Given the description of an element on the screen output the (x, y) to click on. 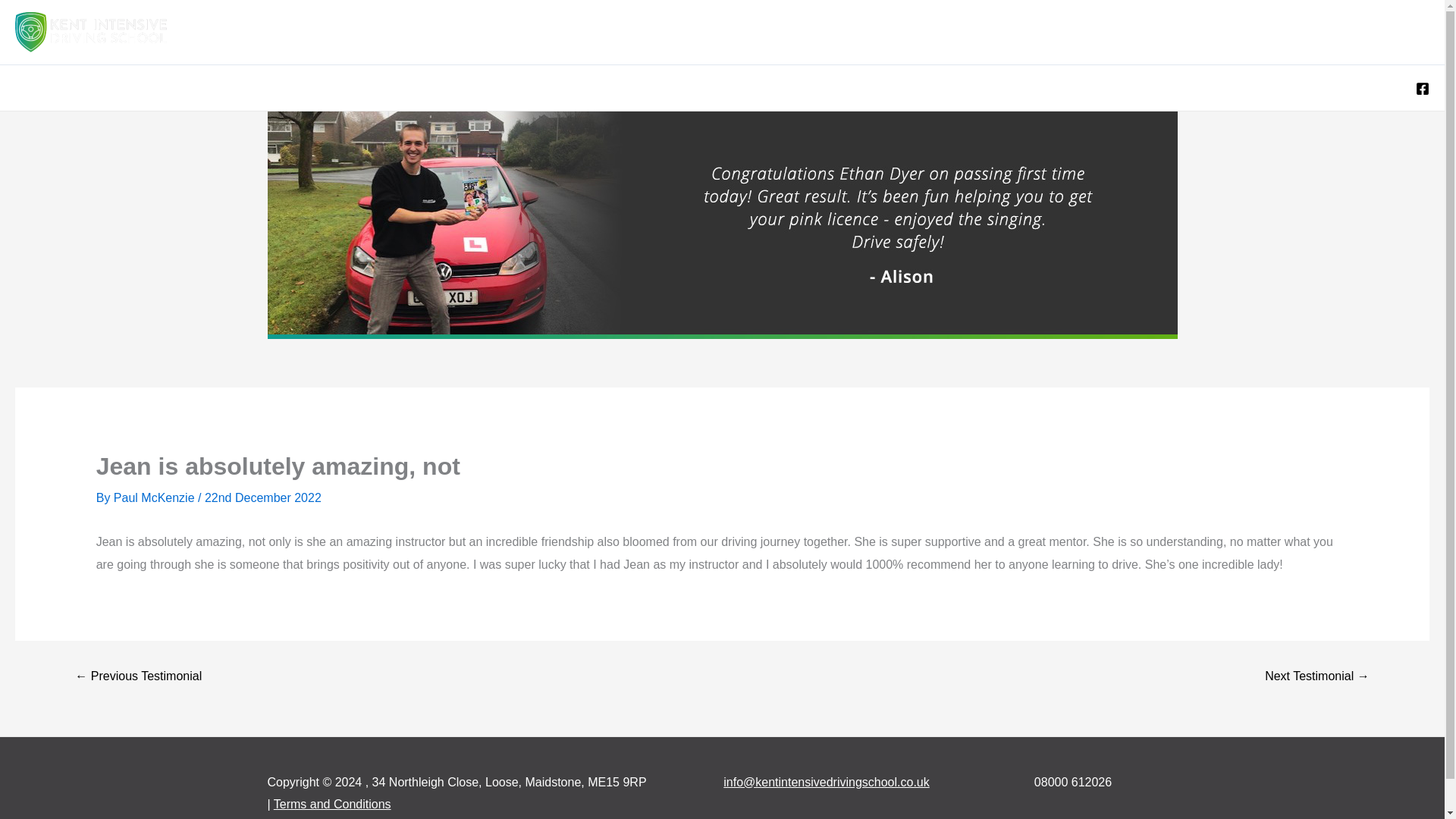
Instructor Training (1118, 31)
About Us (1308, 31)
Testimonials (1225, 31)
Contact us today - 08000 612026 (133, 225)
Booking Forms (930, 31)
My instructor was Alison, with (1316, 676)
View all posts by Paul McKenzie (155, 497)
Contact Us (1387, 31)
Alison is a very experienced (137, 676)
Areas Covered (676, 31)
